Given the description of an element on the screen output the (x, y) to click on. 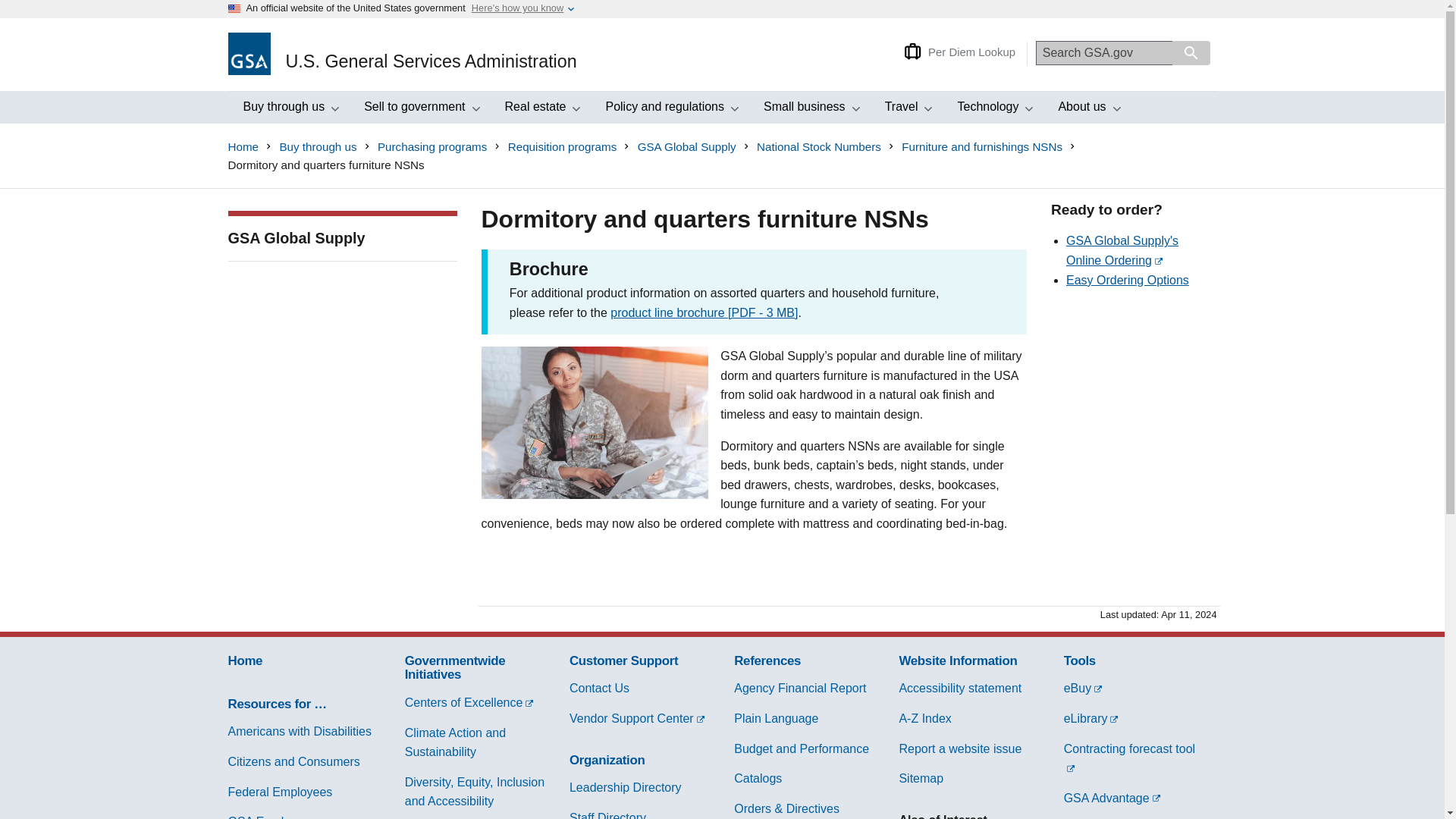
U.S. General Services Administration (401, 54)
Skip to main content (11, 16)
